Given the description of an element on the screen output the (x, y) to click on. 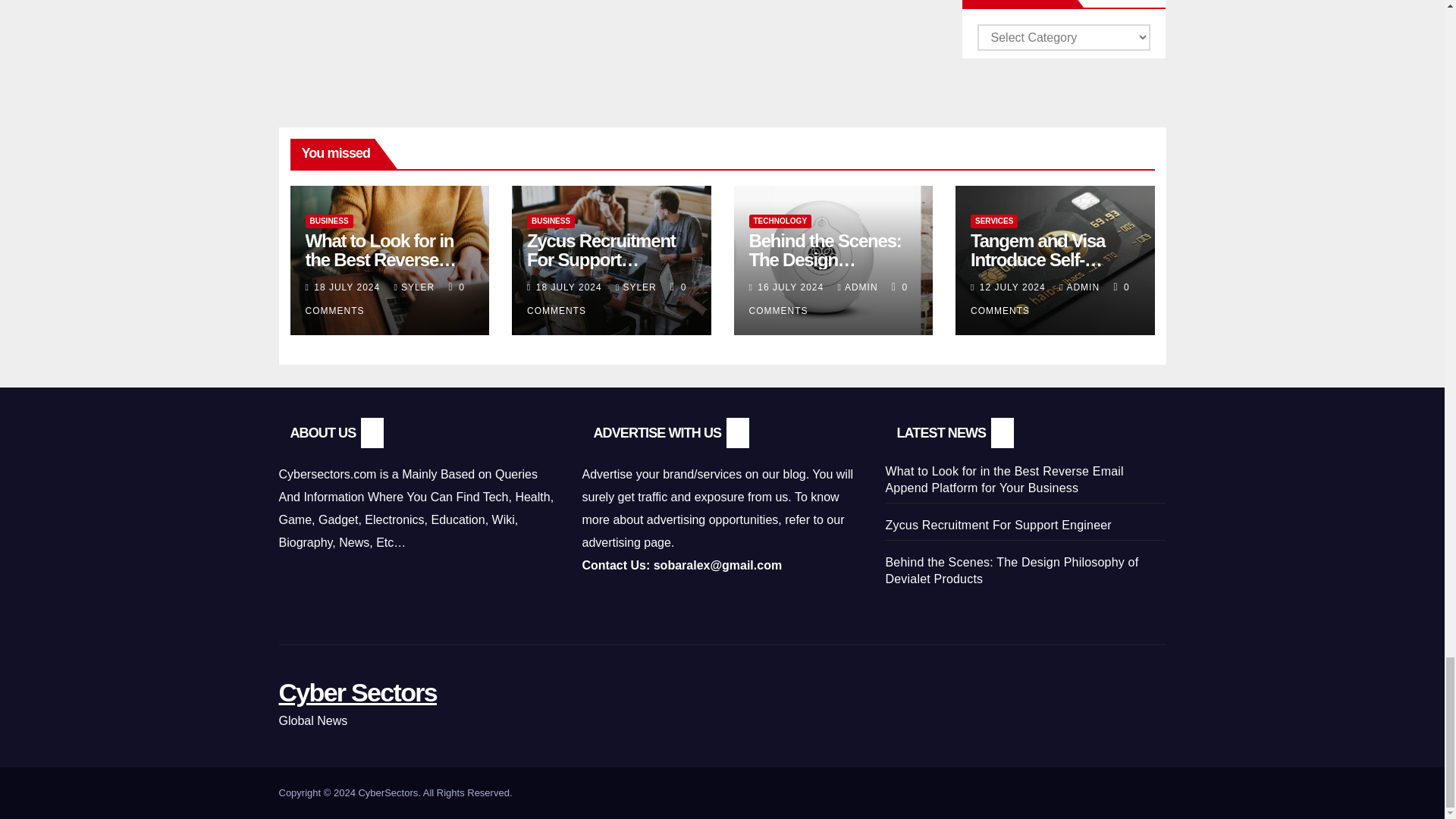
Permalink to: Zycus Recruitment For Support Engineer (601, 259)
